Given the description of an element on the screen output the (x, y) to click on. 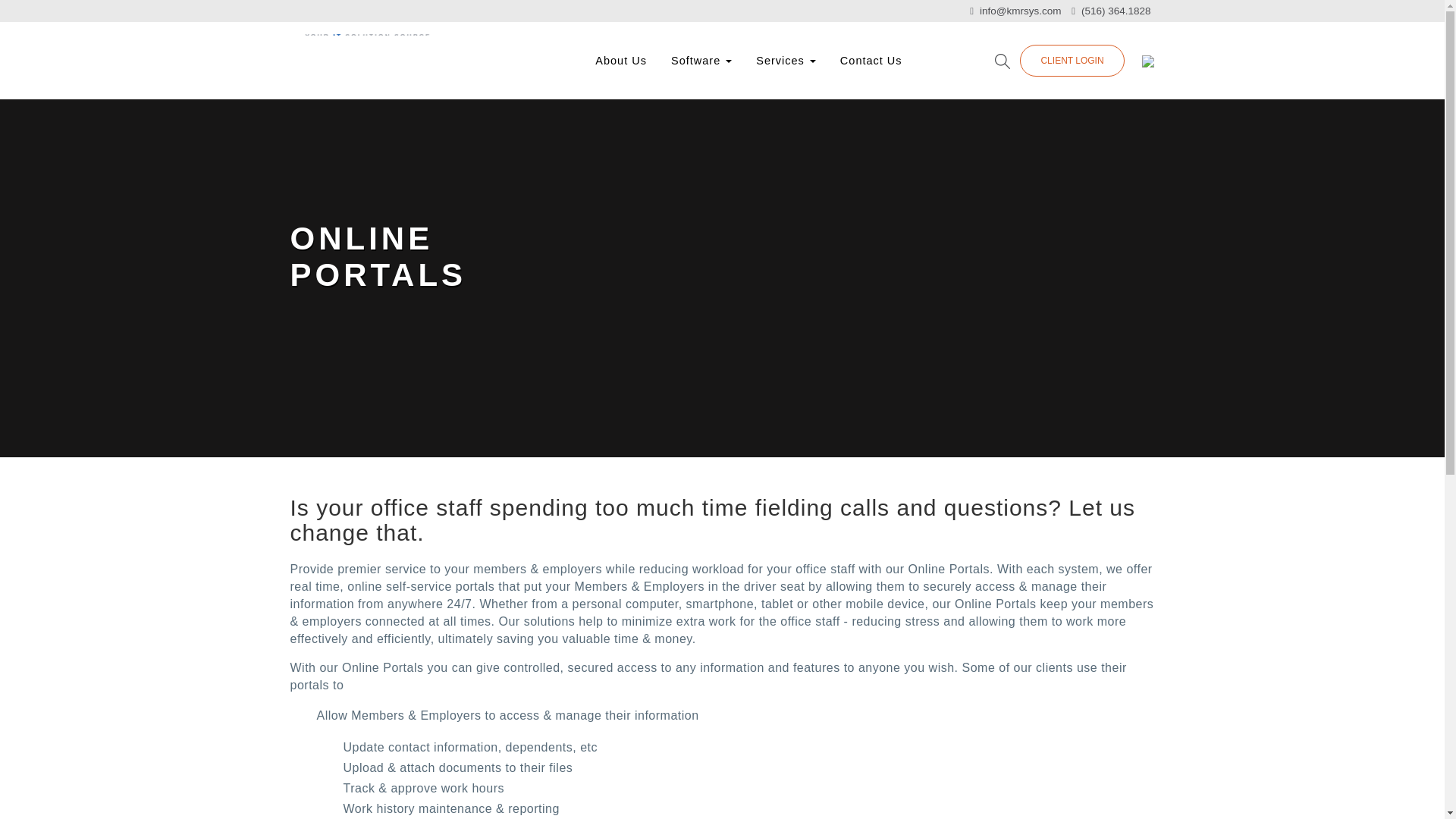
Services (786, 60)
Contact Us (871, 60)
KMR Systems (360, 51)
About Us (621, 60)
About Us (621, 60)
Services (786, 60)
CLIENT LOGIN (1072, 60)
Software (701, 60)
Software (701, 60)
Contact Us (871, 60)
